Given the description of an element on the screen output the (x, y) to click on. 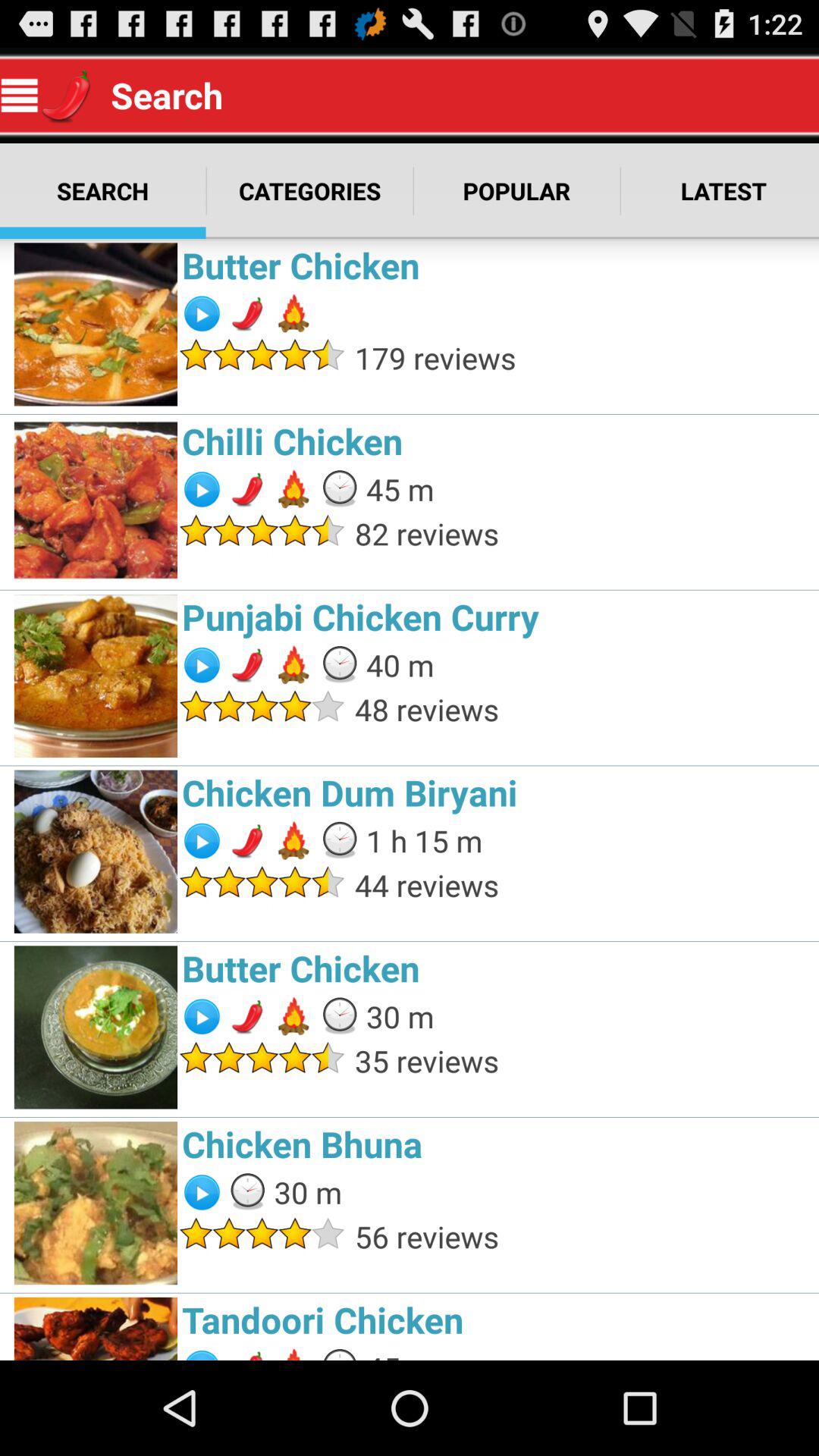
choose the item above punjabi chicken curry item (582, 533)
